Given the description of an element on the screen output the (x, y) to click on. 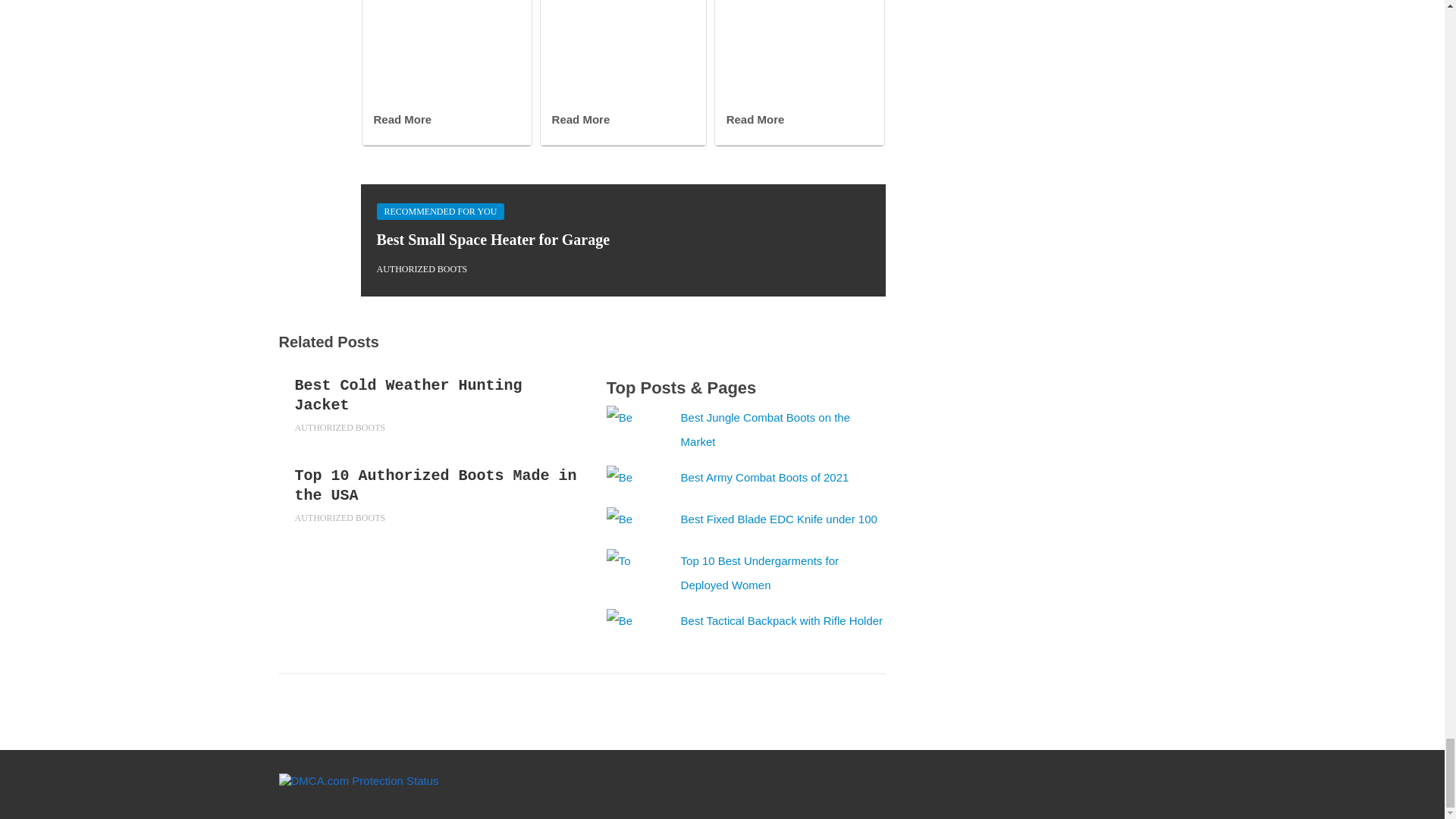
Posts by Authorized Boots (421, 268)
Best Small Space Heater for Garage (492, 239)
